Given the description of an element on the screen output the (x, y) to click on. 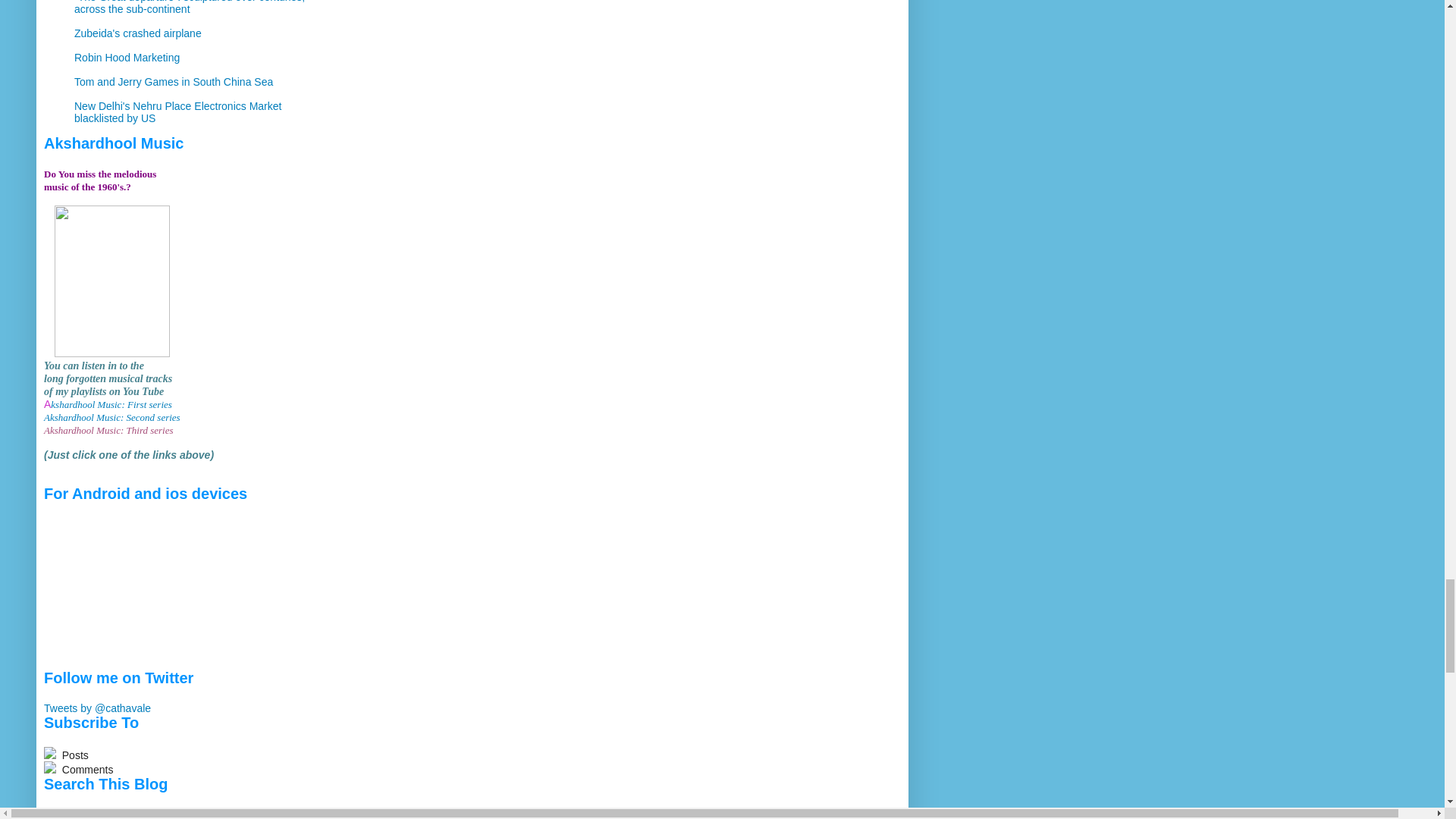
Search (139, 813)
search (80, 813)
search (139, 813)
Search (139, 813)
